Given the description of an element on the screen output the (x, y) to click on. 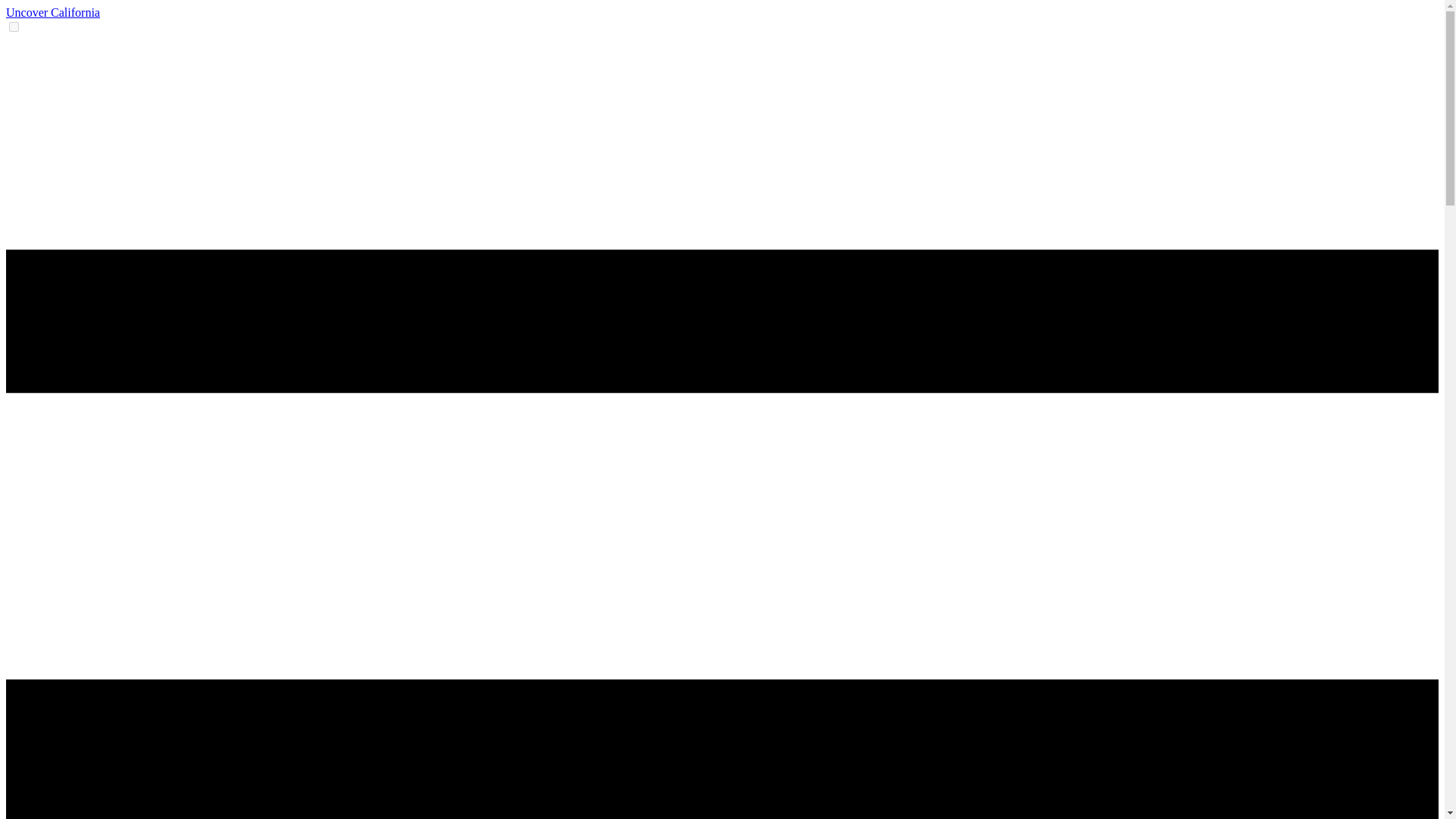
Uncover California (52, 11)
on (13, 26)
